Given the description of an element on the screen output the (x, y) to click on. 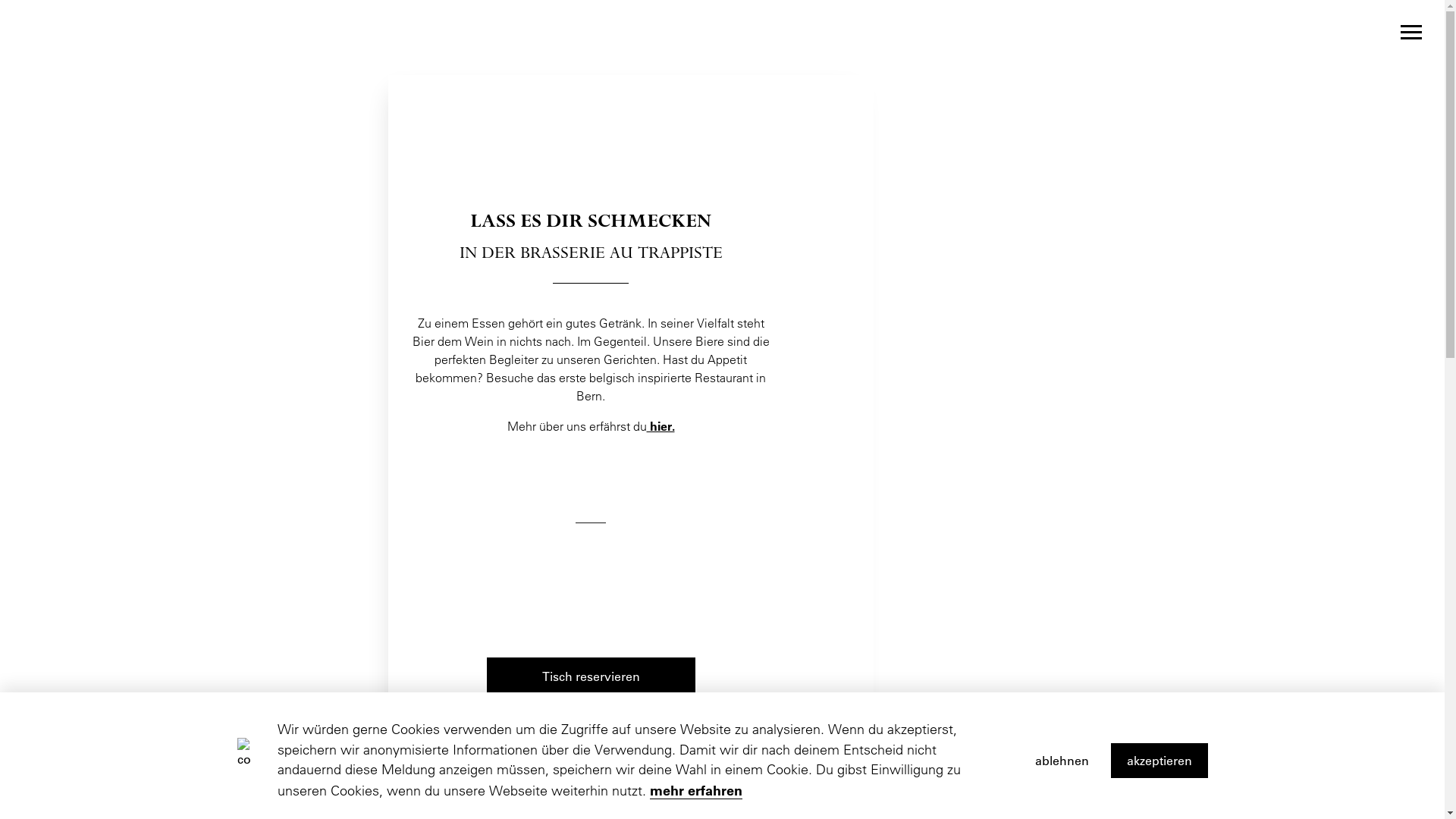
akzeptieren Element type: text (1158, 760)
Tisch reservieren Element type: text (590, 676)
hier. Element type: text (660, 425)
mehr erfahren Element type: text (695, 790)
ablehnen Element type: text (1061, 760)
